Given the description of an element on the screen output the (x, y) to click on. 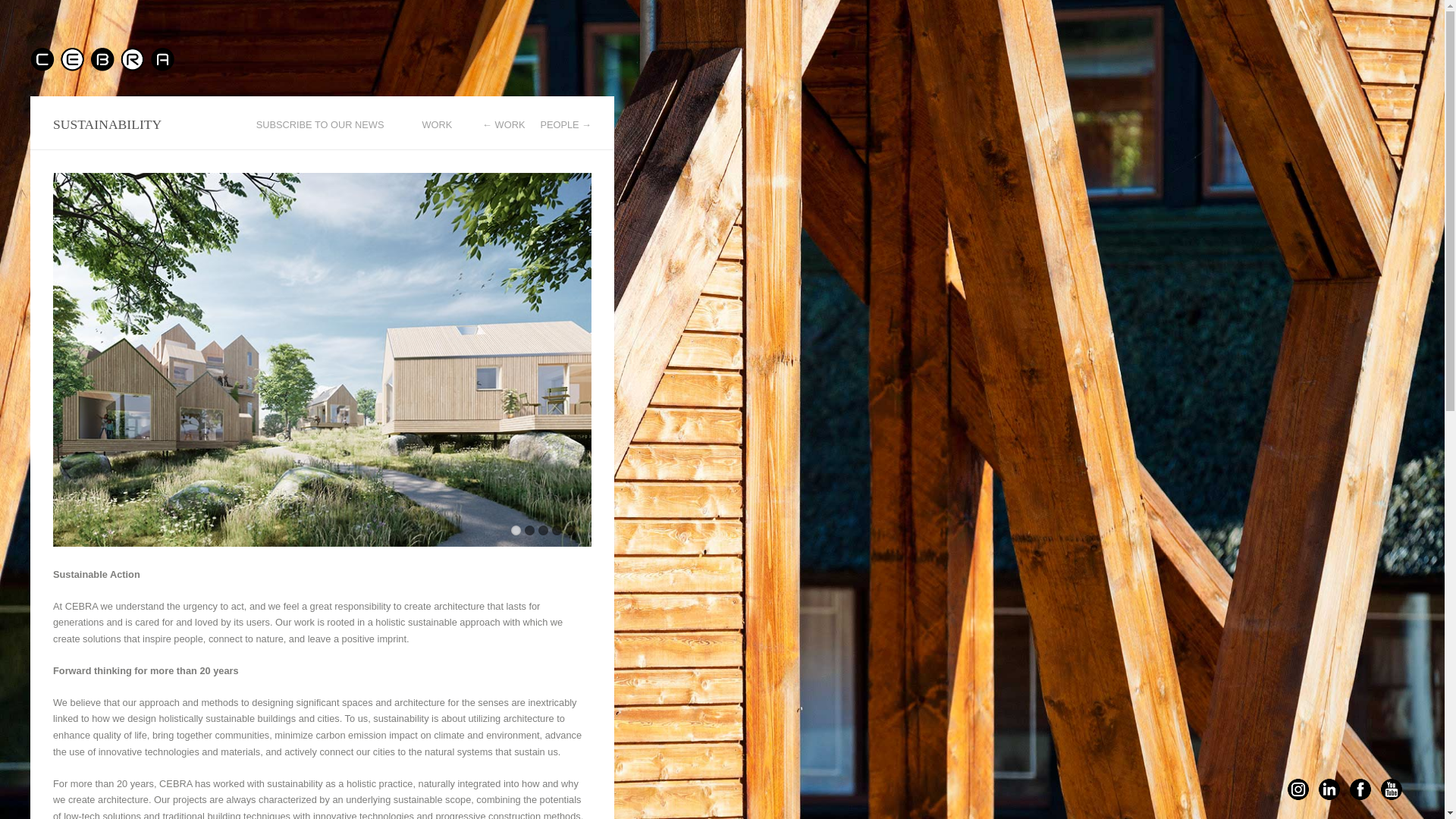
WORK (502, 124)
Visit Us On Instagram (1297, 797)
5 (570, 530)
Visit Us On Linkedin (1328, 797)
WORK (436, 125)
1 (516, 530)
WORK (436, 125)
Visit Us On Facebook (1360, 797)
3 (543, 530)
2 (529, 530)
